Given the description of an element on the screen output the (x, y) to click on. 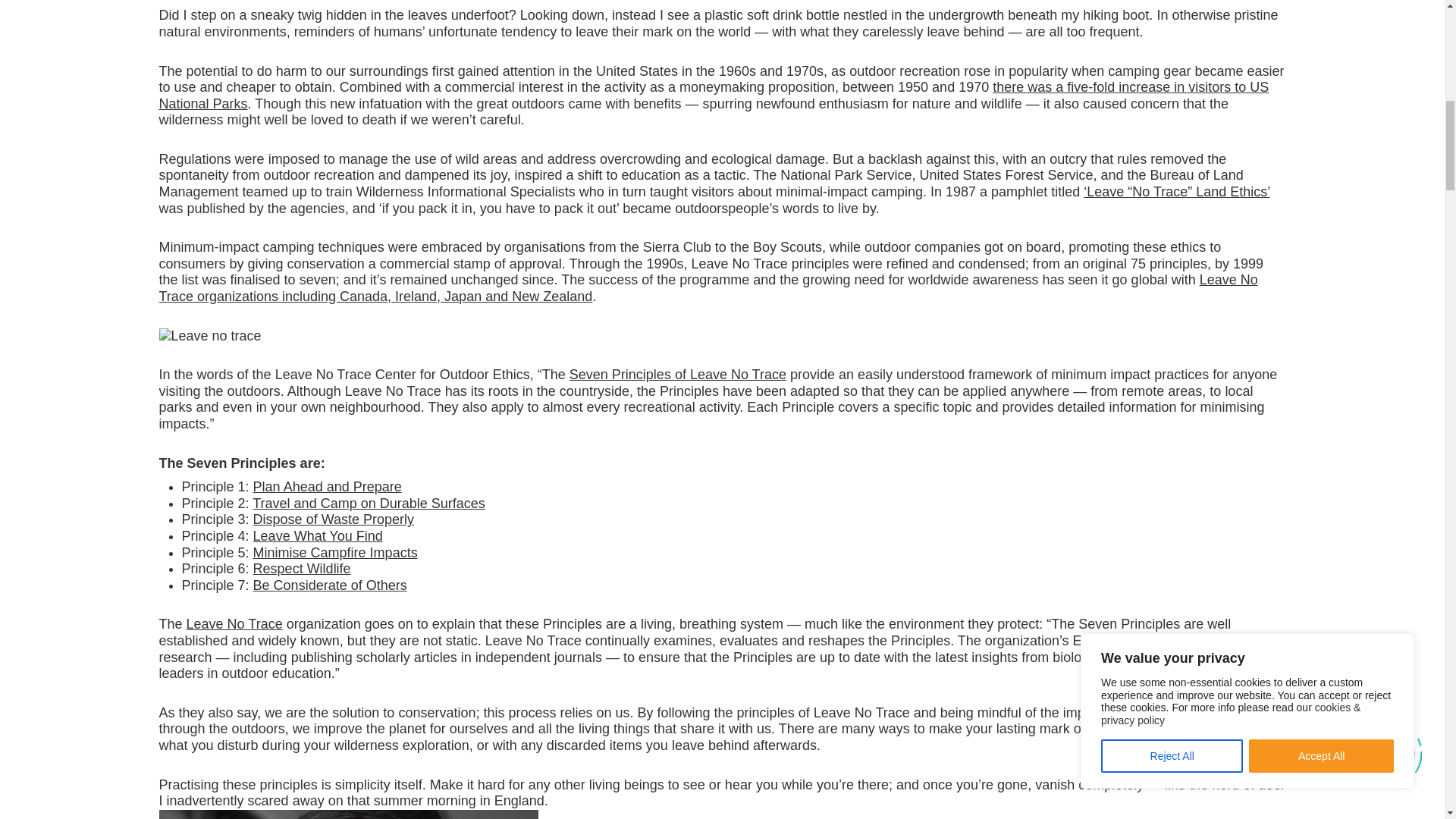
Plan Ahead and Prepare (327, 486)
Respect Wildlife (301, 568)
Travel and Camp on Durable Surfaces (367, 503)
Minimise Campfire Impacts (335, 552)
Dispose of Waste Properly (333, 519)
Seven Principles of Leave No Trace (677, 374)
Leave What You Find (317, 535)
Be Considerate of Others (330, 585)
Leave No Trace (234, 623)
